Given the description of an element on the screen output the (x, y) to click on. 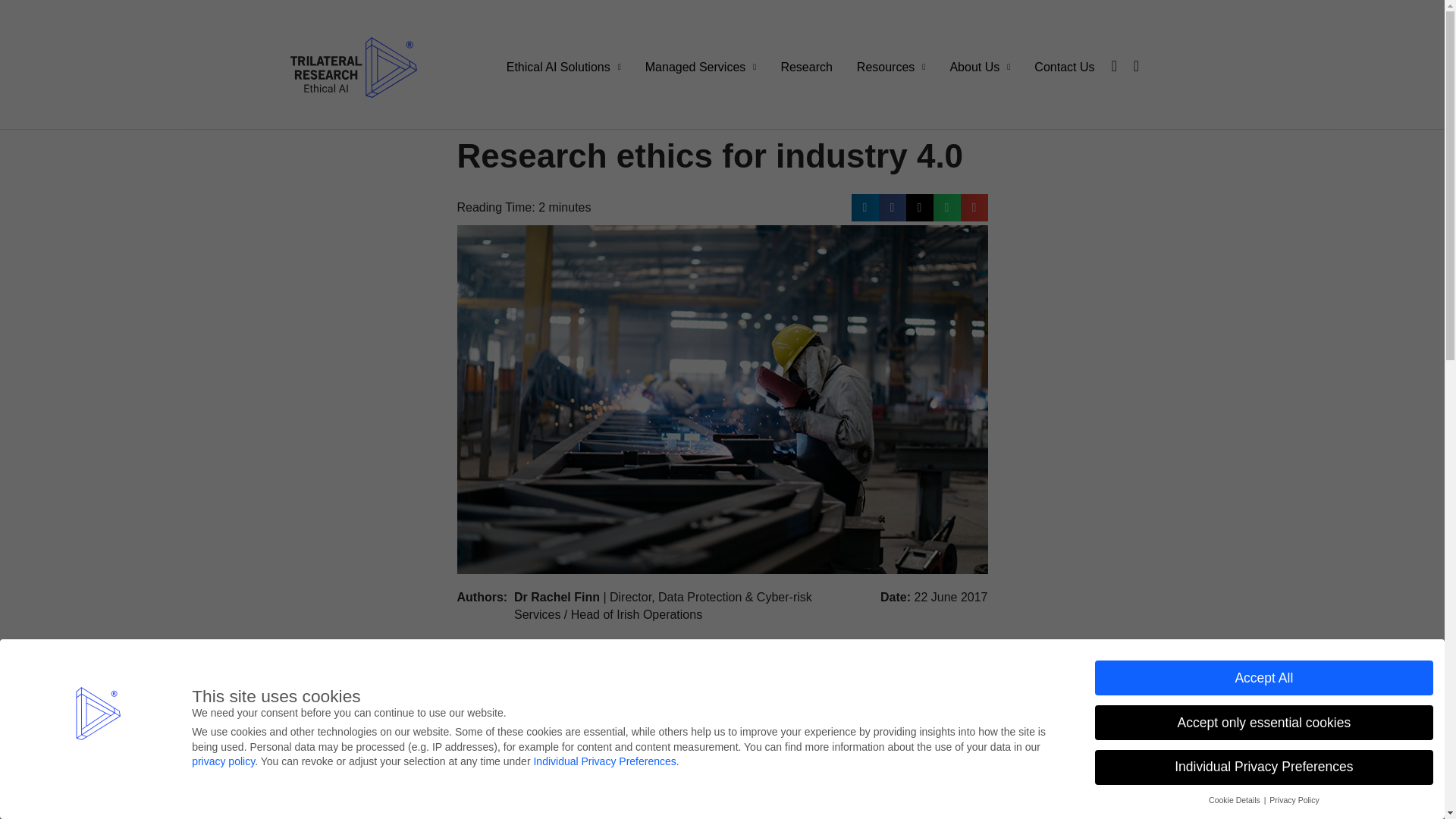
Resources (890, 66)
Ethical AI Solutions (564, 66)
About Us (979, 66)
Research (806, 66)
Contact Us (1064, 66)
Managed Services (700, 66)
Open Cookie Preferences (32, 799)
